Given the description of an element on the screen output the (x, y) to click on. 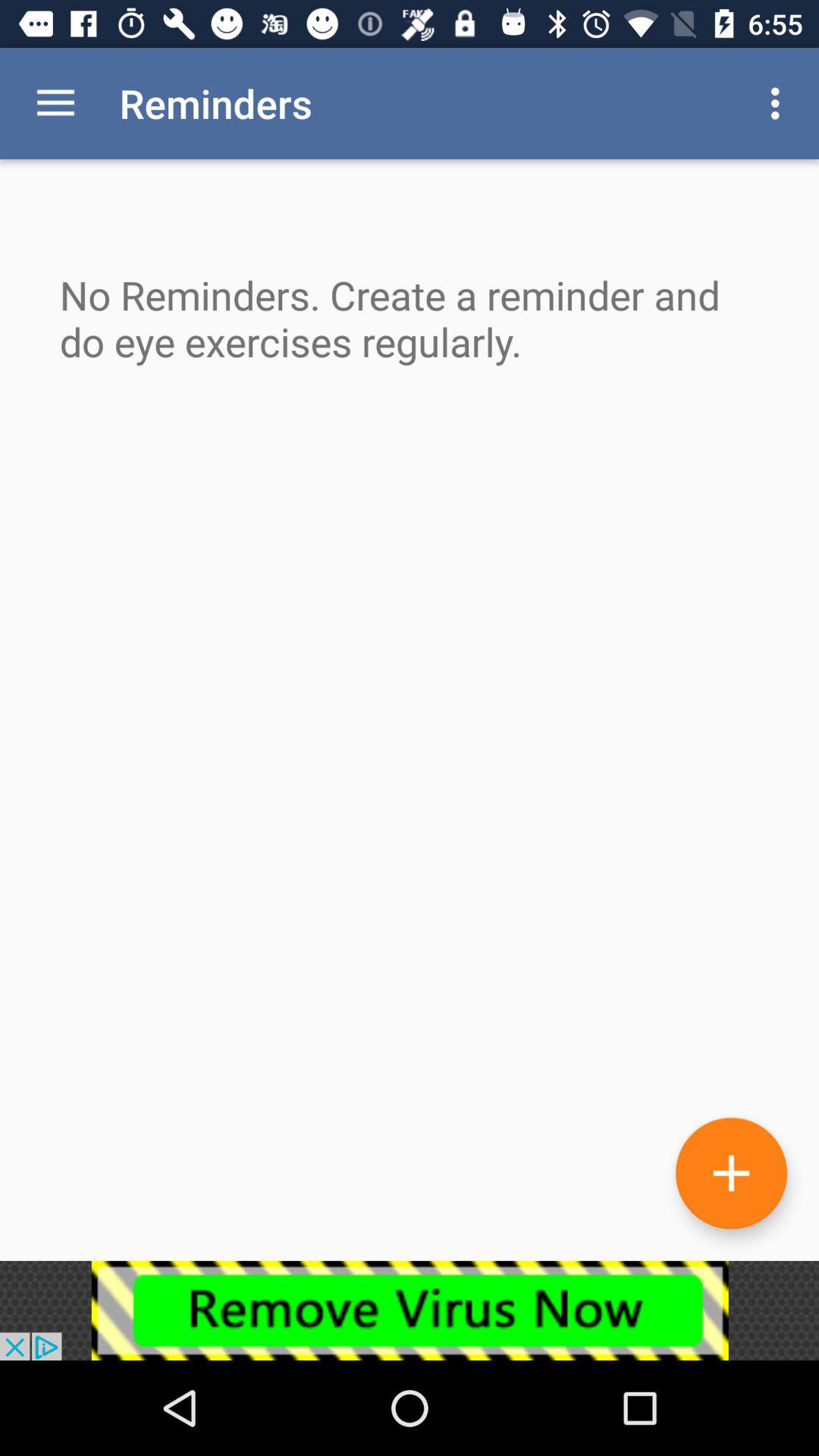
open advertisement (409, 1310)
